Given the description of an element on the screen output the (x, y) to click on. 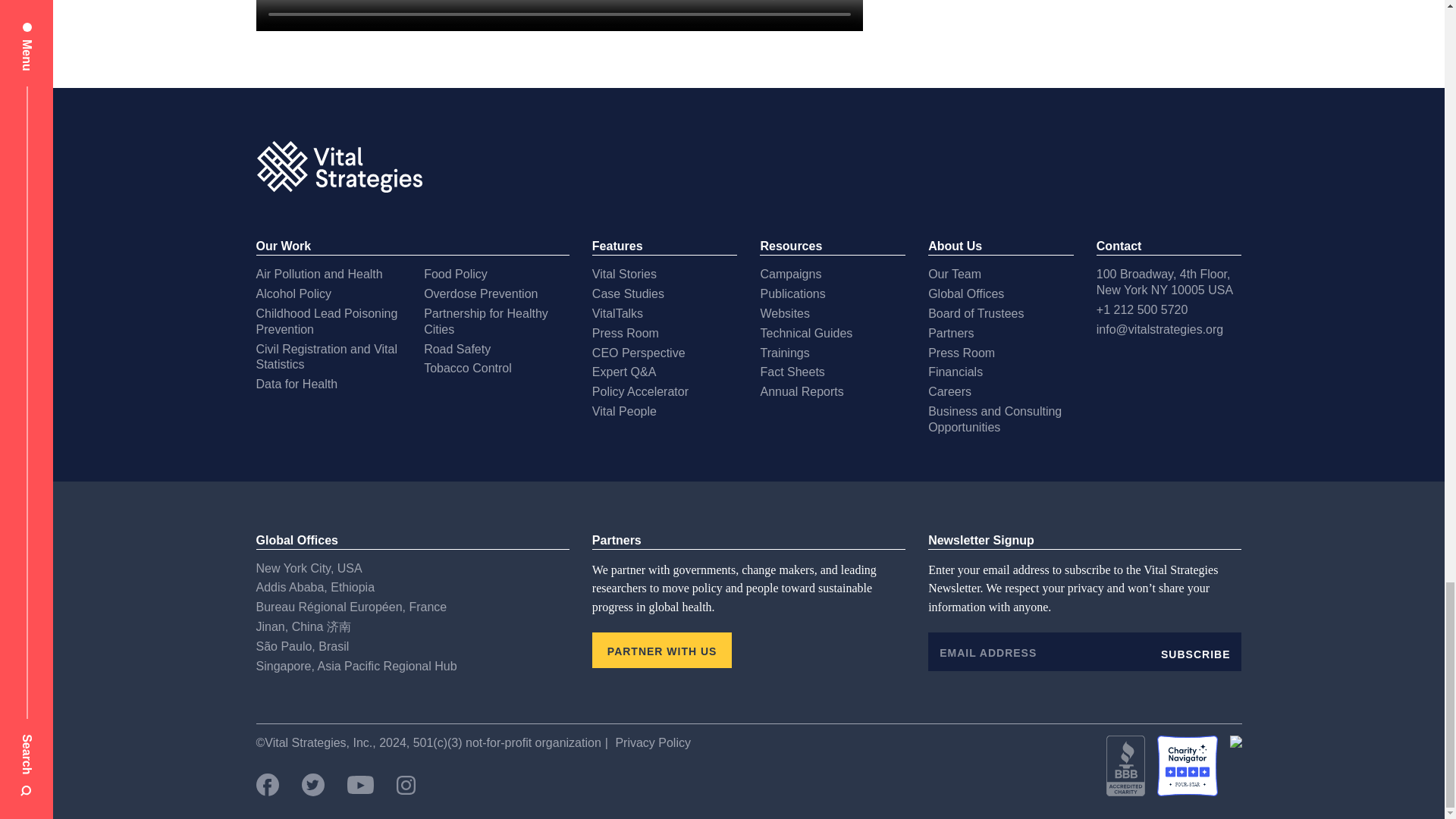
Subscribe (1195, 651)
